Given the description of an element on the screen output the (x, y) to click on. 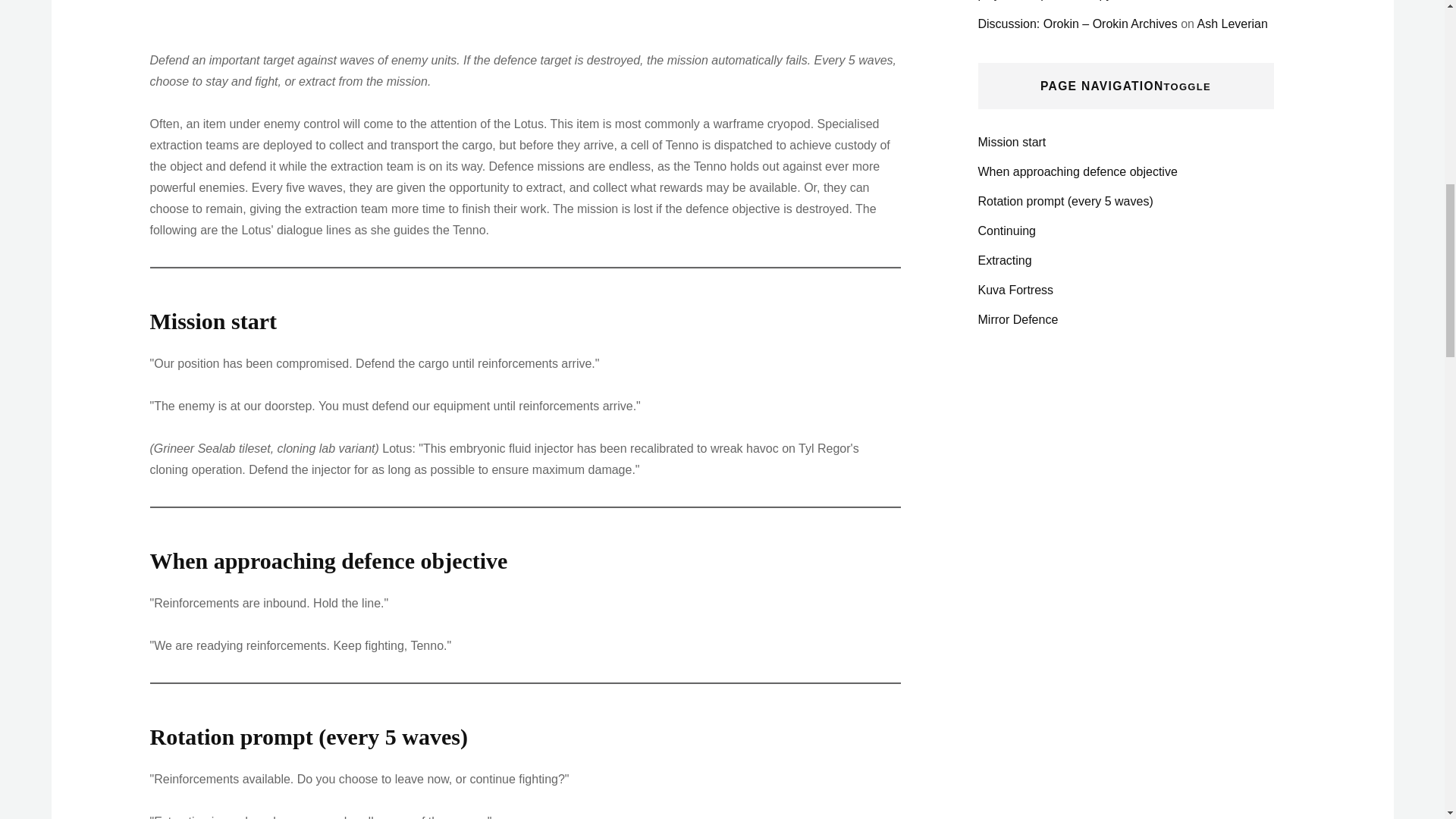
Continuing (1007, 230)
Mirror Defence (1018, 318)
Extracting (1005, 259)
Kuva Fortress (1016, 289)
When approaching defence objective (1077, 171)
Mission start (1012, 141)
